Given the description of an element on the screen output the (x, y) to click on. 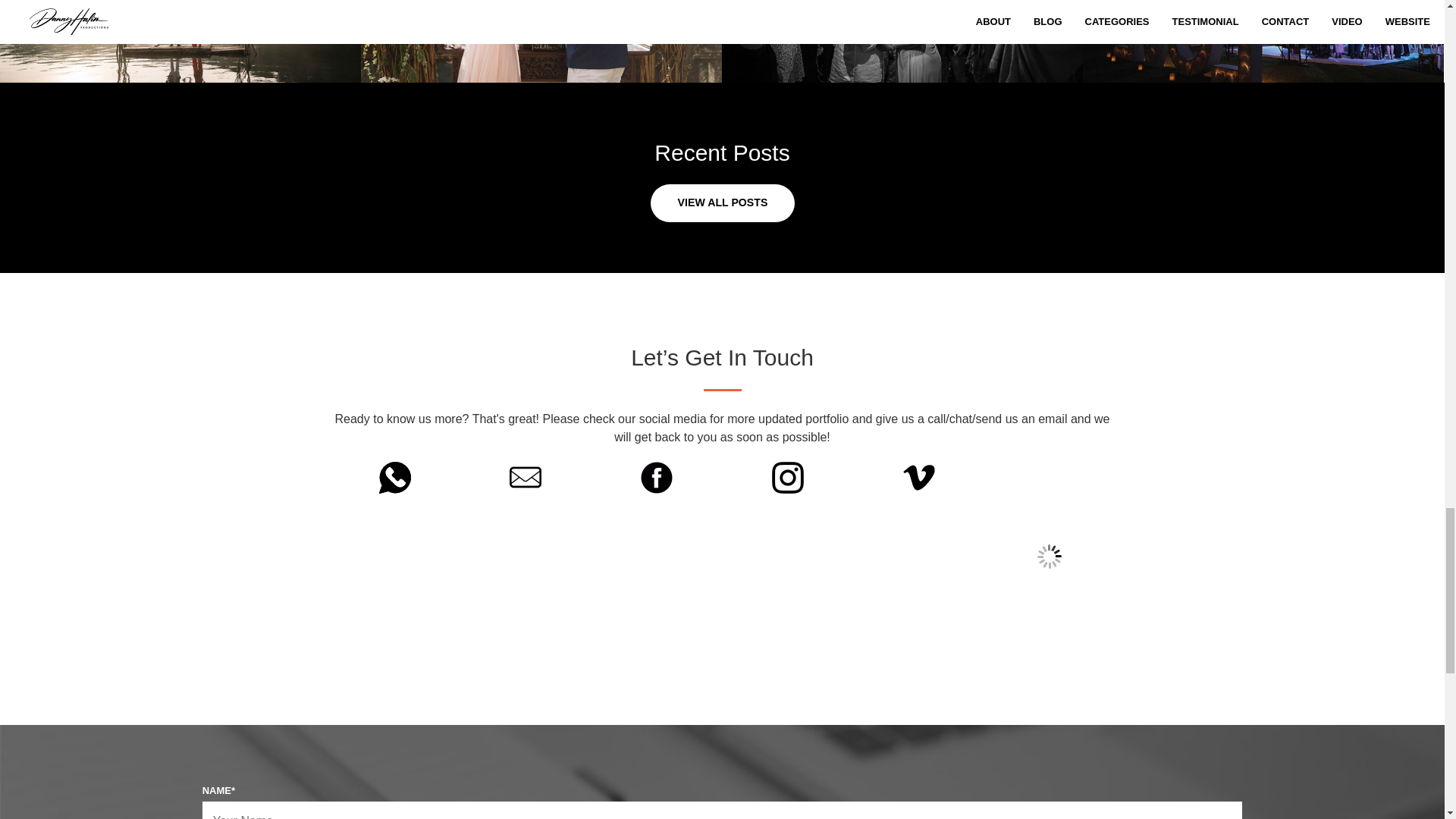
VIEW ALL POSTS (722, 202)
